Given the description of an element on the screen output the (x, y) to click on. 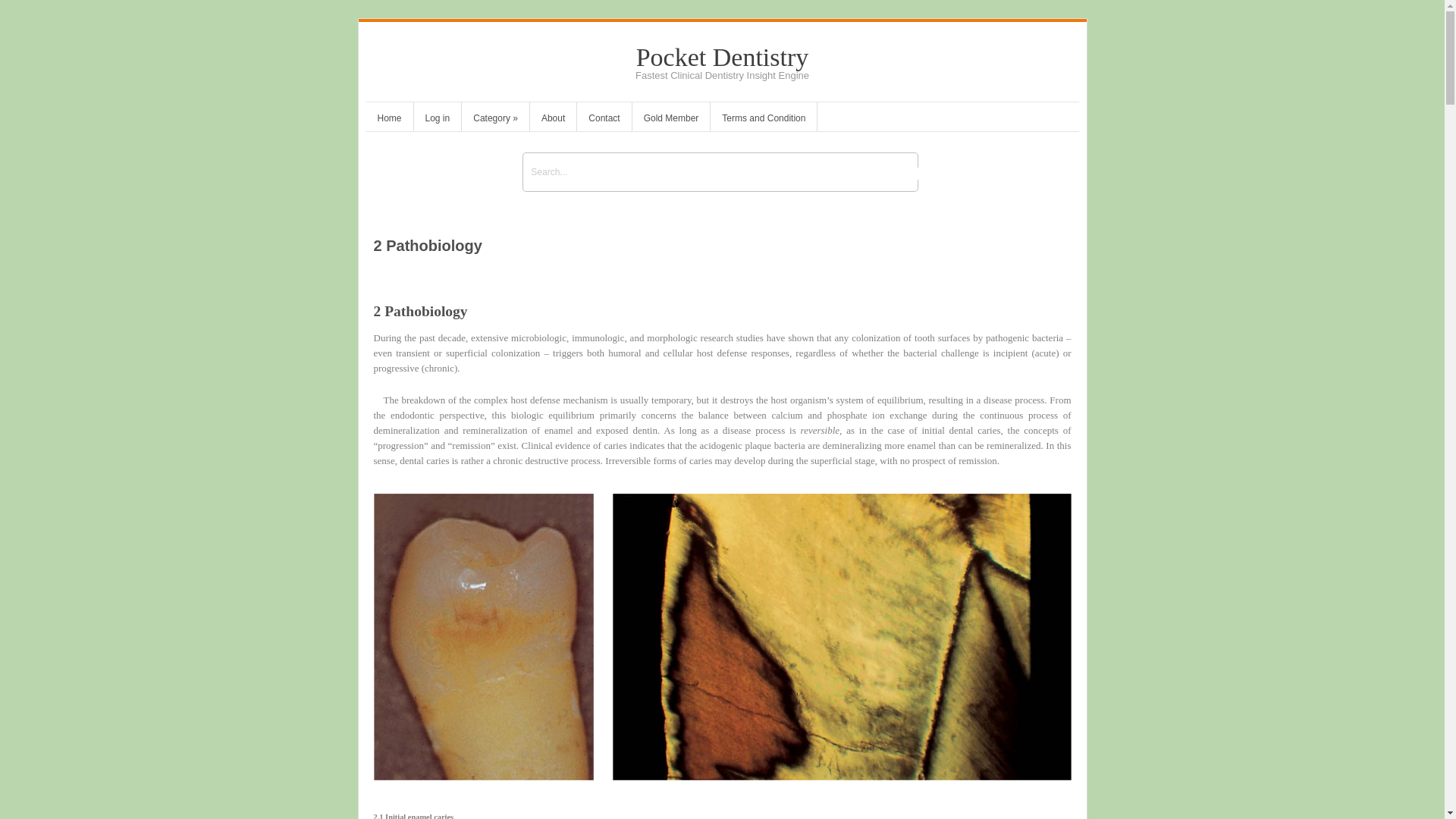
Pocket Dentistry (722, 57)
Home (388, 119)
Terms and Condition (763, 119)
Contact (603, 119)
Pocket Dentistry (722, 57)
About (552, 119)
Log in (437, 119)
Gold Member (670, 119)
